Given the description of an element on the screen output the (x, y) to click on. 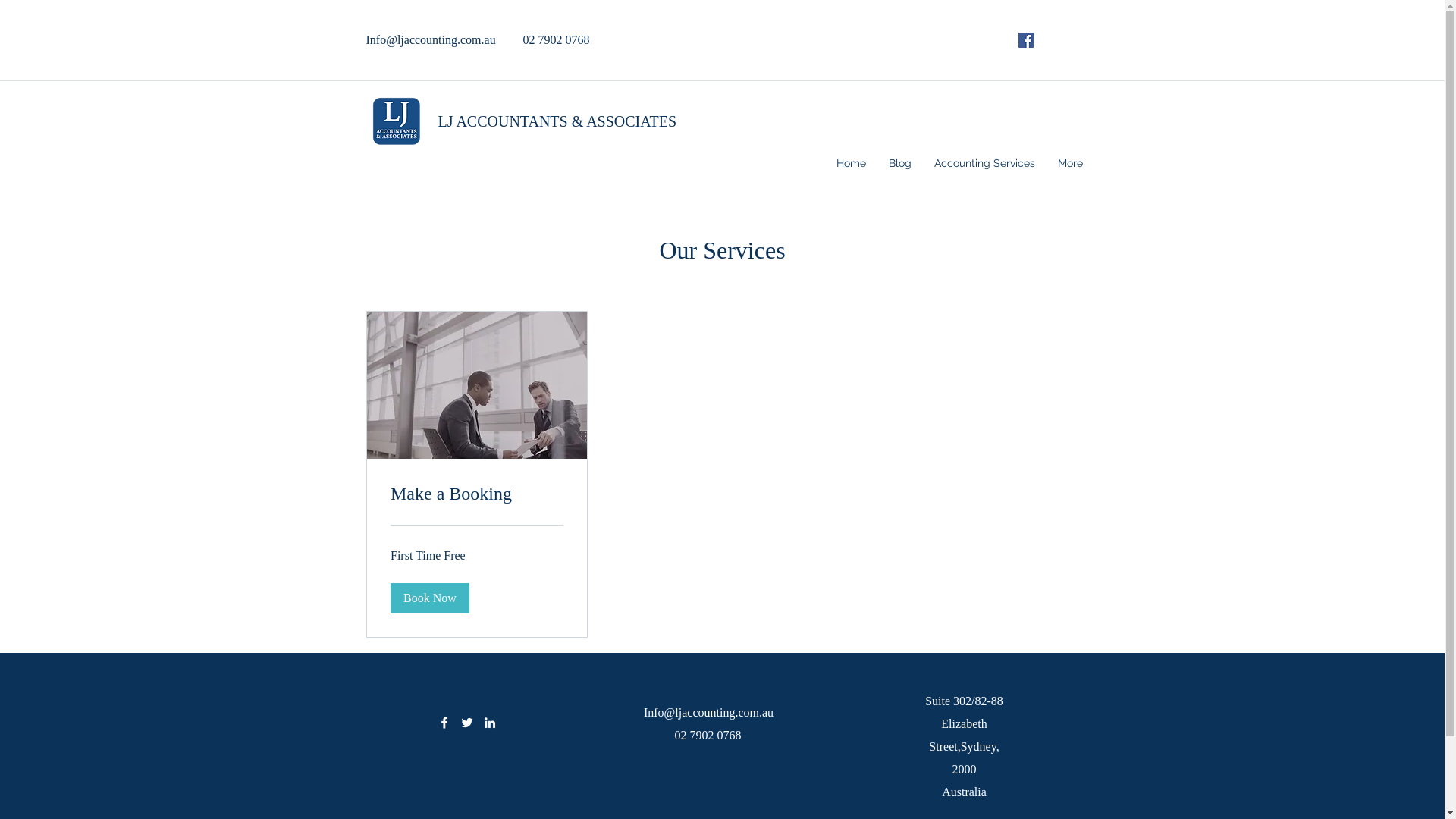
Make a Booking Element type: text (475, 494)
Blog Element type: text (899, 162)
Book Now Element type: text (428, 598)
Home Element type: text (851, 162)
Info@ljaccounting.com.au Element type: text (430, 39)
Info@ljaccounting.com.au Element type: text (708, 712)
Accounting Services Element type: text (983, 162)
